Given the description of an element on the screen output the (x, y) to click on. 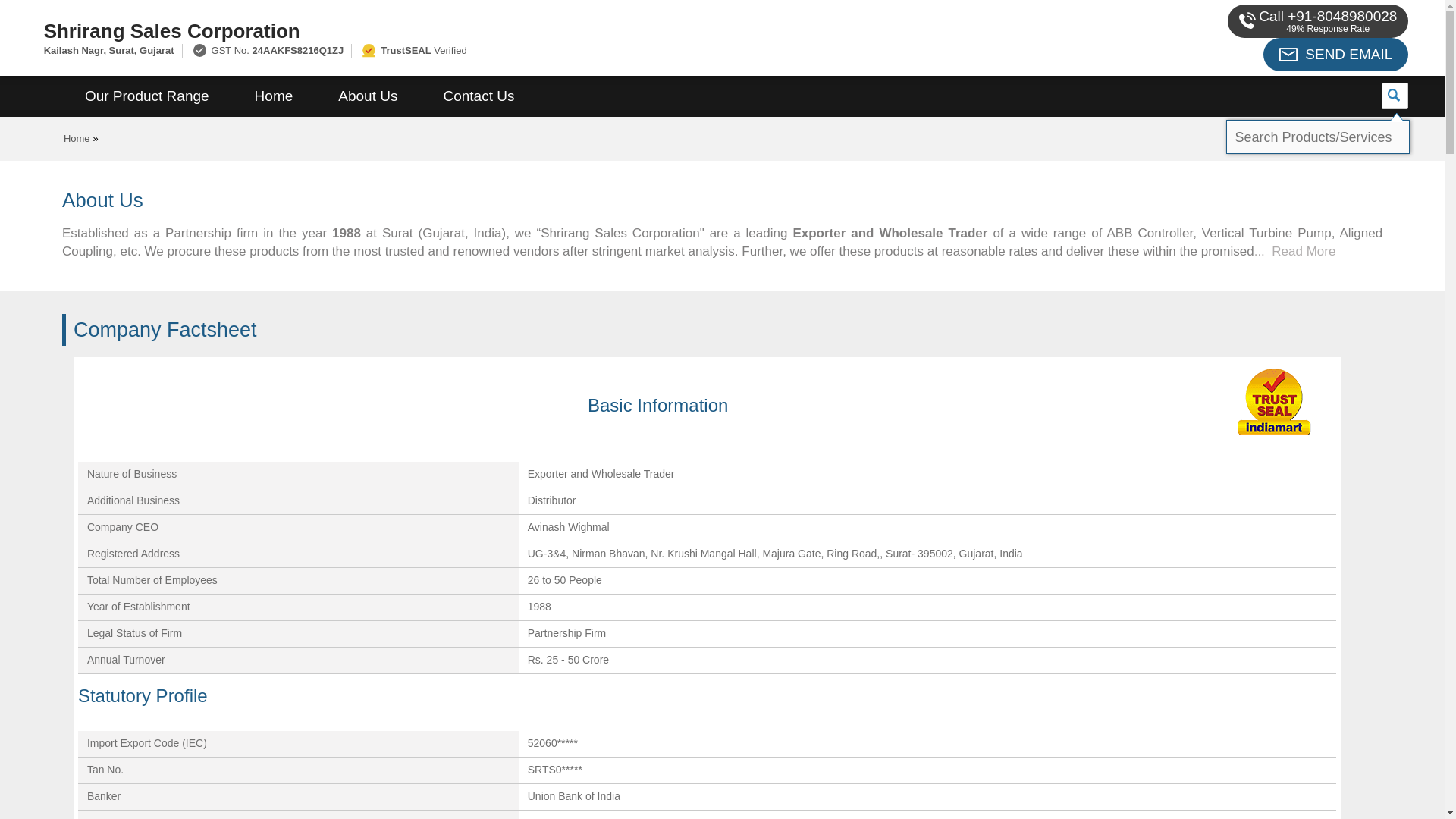
Contact Us (478, 96)
Our Product Range (146, 96)
About Us (367, 96)
Home (273, 96)
Shrirang Sales Corporation (480, 31)
